Given the description of an element on the screen output the (x, y) to click on. 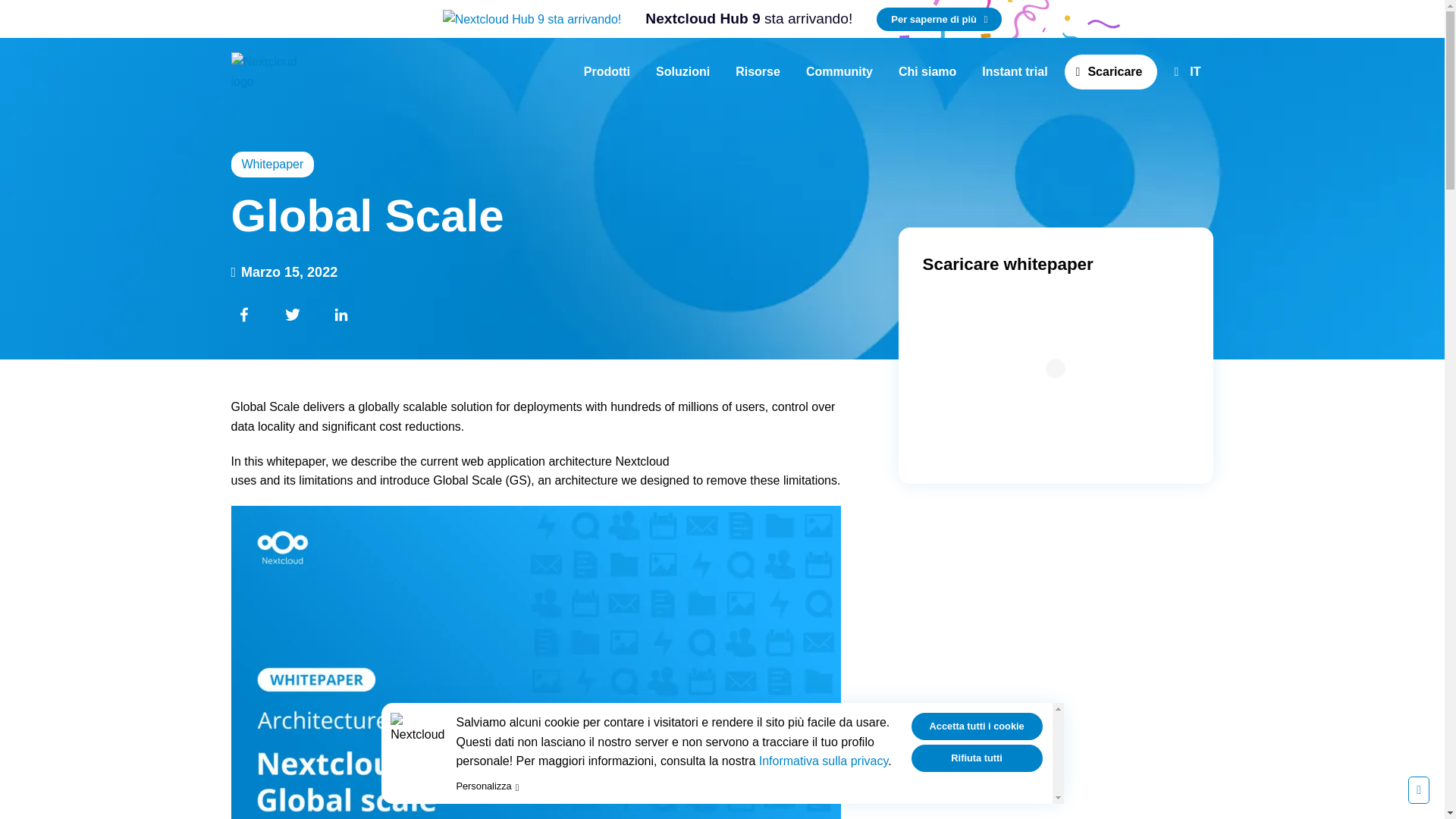
Community (839, 71)
Nextcloud (263, 71)
Nextcloud Hub 9 sta arrivando! (531, 19)
Prodotti (938, 19)
Risorse (748, 19)
Soluzioni (607, 71)
